Given the description of an element on the screen output the (x, y) to click on. 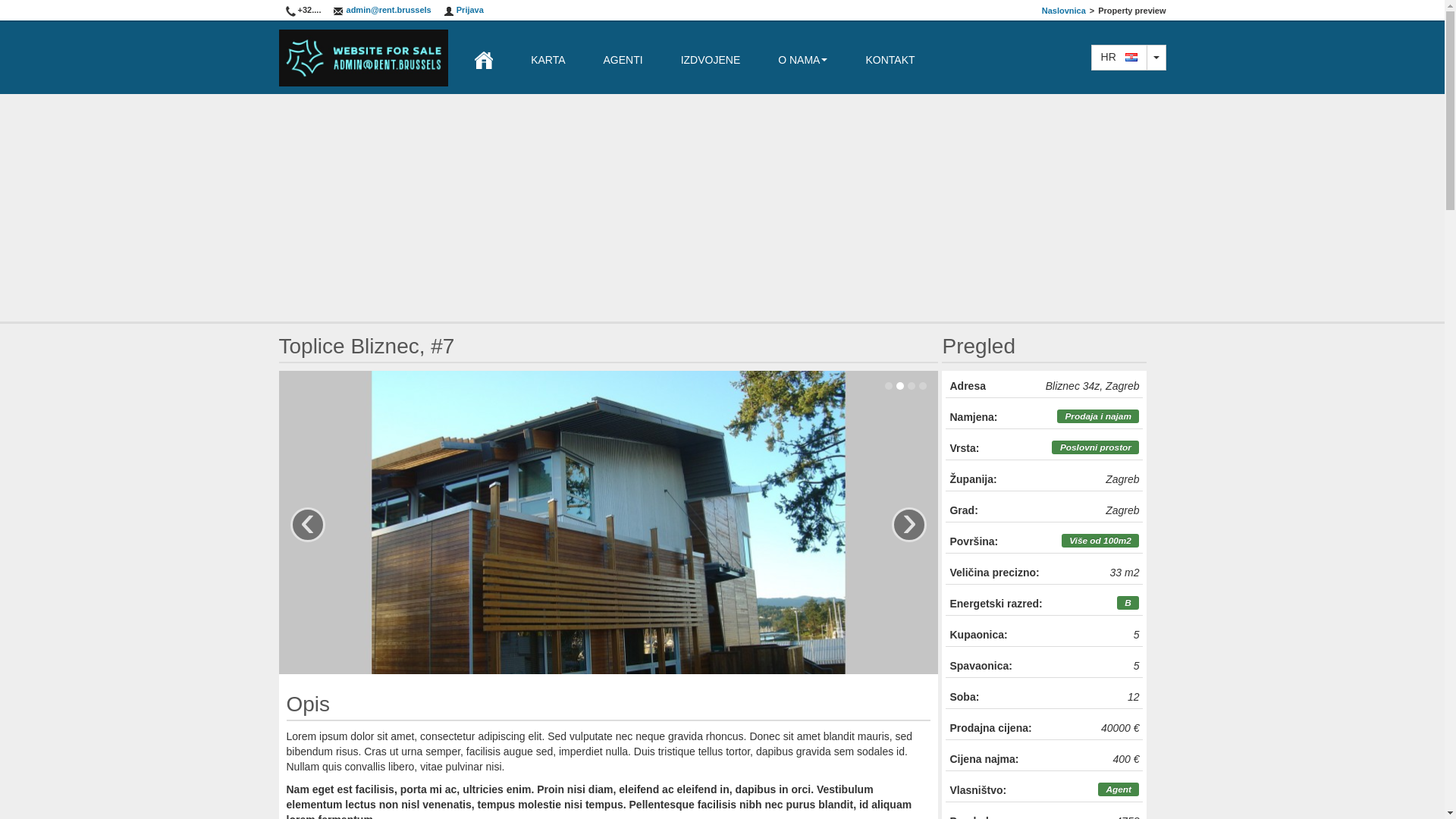
IZDVOJENE Element type: text (710, 57)
AGENTI Element type: text (623, 57)
Advertisement Element type: hover (722, 207)
Naslovnica Element type: text (1063, 10)
KARTA Element type: text (547, 57)
TOGGLE DROPDOWN Element type: text (1156, 57)
Prijava Element type: text (463, 9)
O NAMA Element type: text (802, 57)
admin@rent.brussels Element type: text (381, 9)
HR   Element type: text (1119, 57)
KONTAKT Element type: text (889, 57)
